Given the description of an element on the screen output the (x, y) to click on. 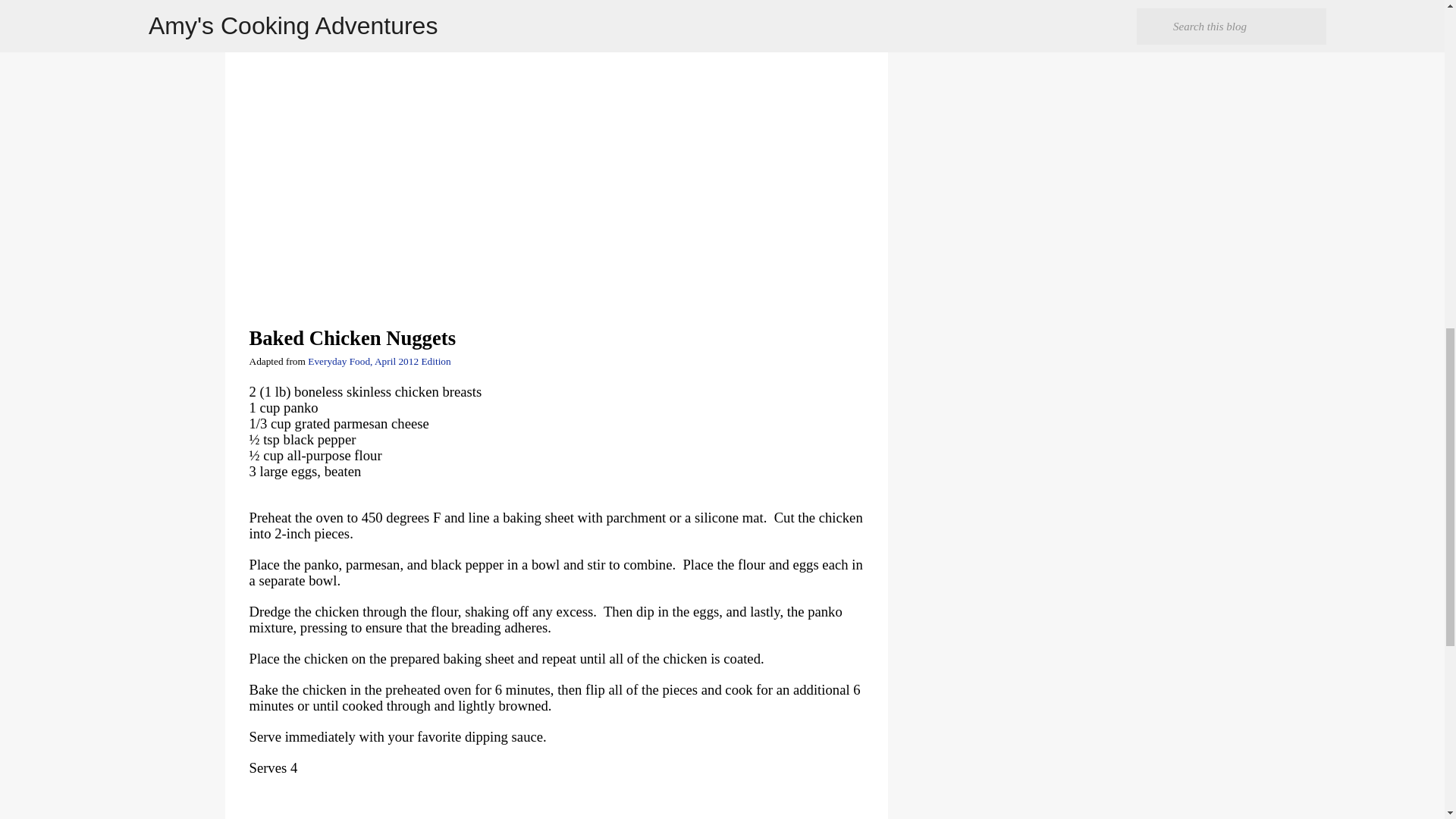
Everyday Food, April 2012 Edition (378, 360)
